Given the description of an element on the screen output the (x, y) to click on. 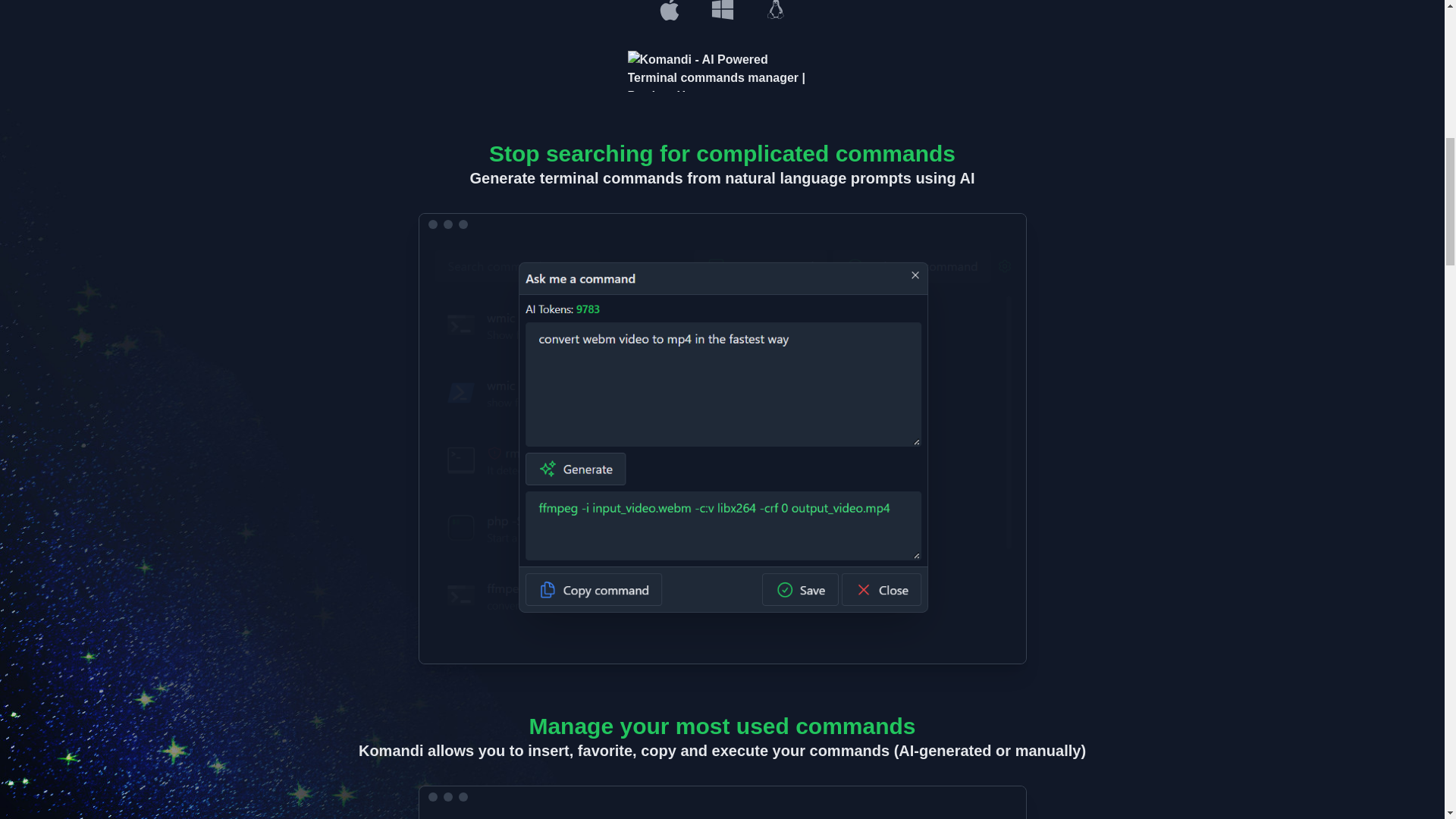
Linux (775, 10)
macOS (669, 10)
Windows (722, 10)
